Given the description of an element on the screen output the (x, y) to click on. 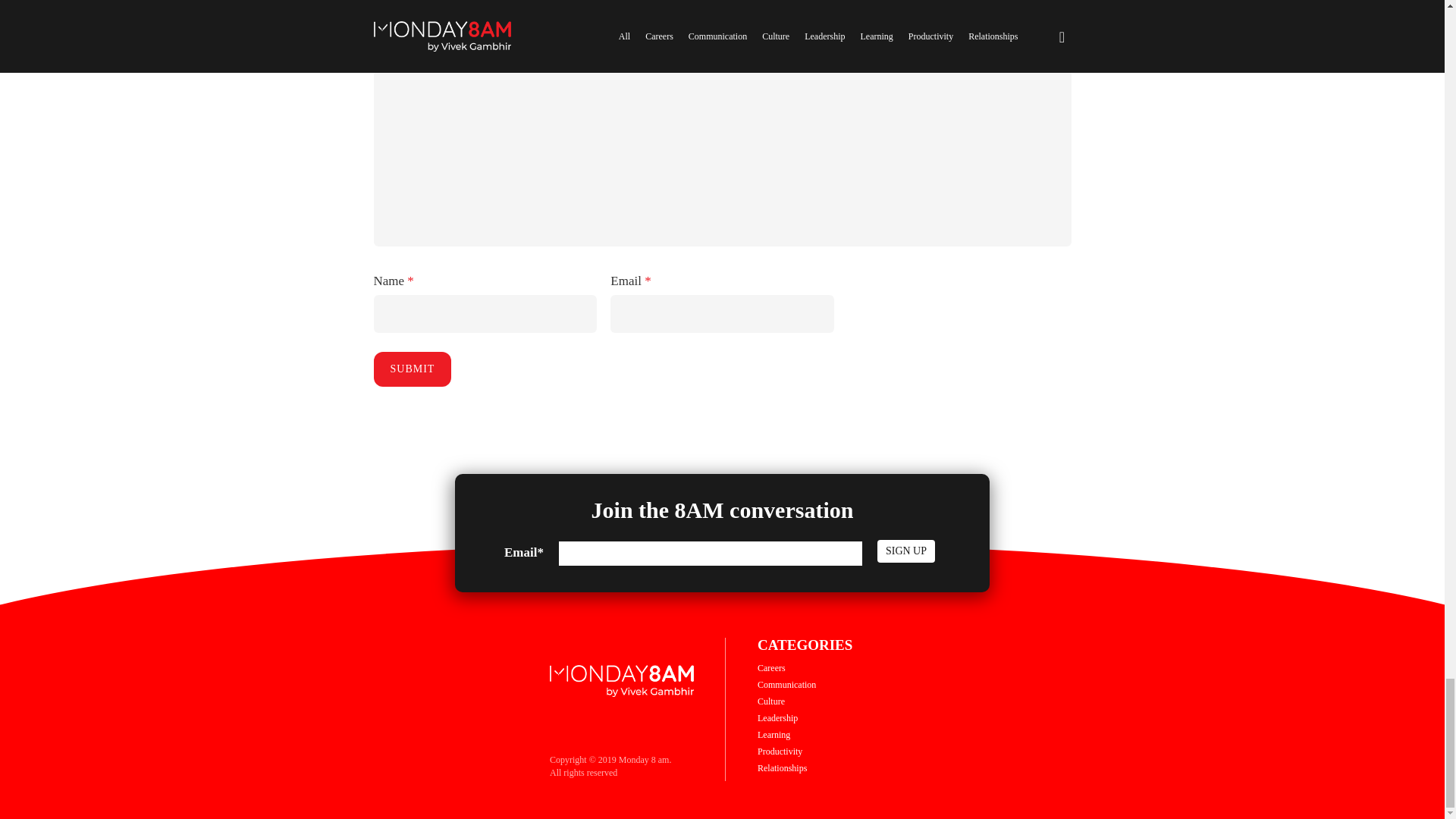
Submit (411, 369)
Leadership (777, 717)
Culture (770, 701)
Careers (771, 667)
Sign Up (905, 550)
Relationships (781, 767)
Learning (773, 735)
Communication (786, 684)
Sign Up (905, 550)
Productivity (779, 751)
